Given the description of an element on the screen output the (x, y) to click on. 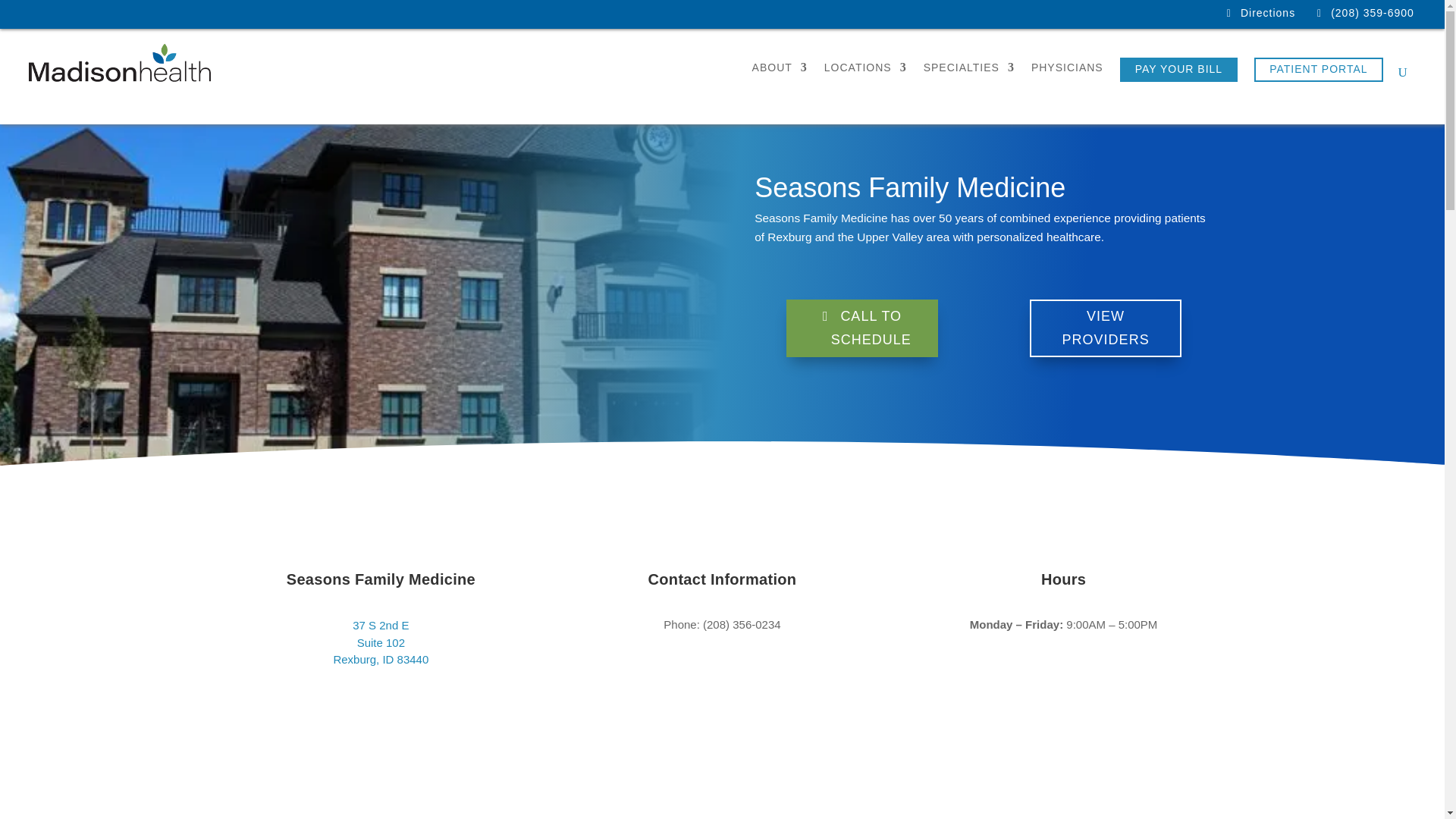
Madisonhealth-color-optimized (120, 62)
Directions (1268, 12)
LOCATIONS (865, 75)
ABOUT (780, 75)
PHYSICIANS (1066, 75)
SPECIALTIES (968, 75)
PAY YOUR BILL (1178, 69)
PATIENT PORTAL (1317, 69)
